Given the description of an element on the screen output the (x, y) to click on. 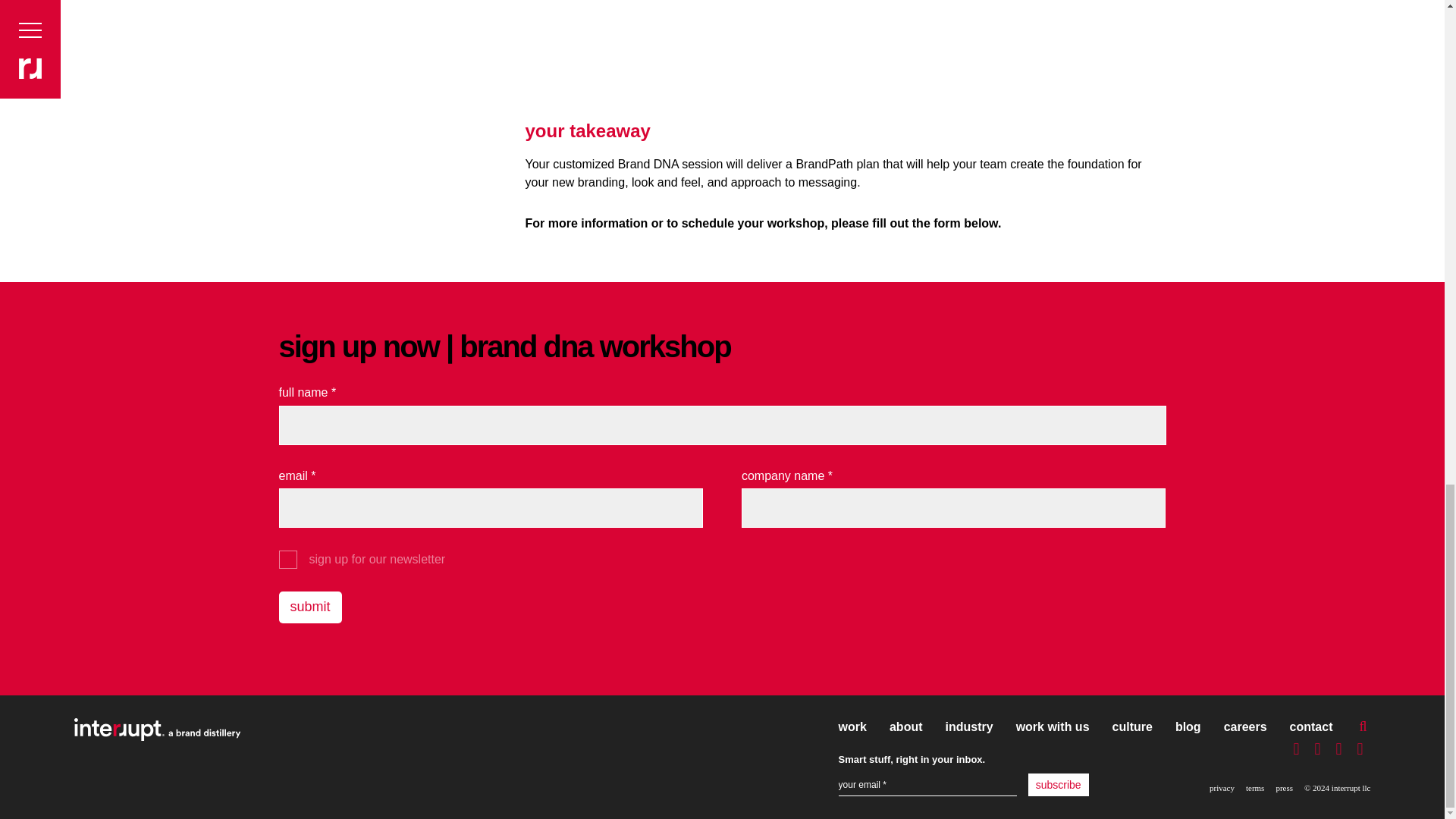
Subscribe (1058, 784)
